Given the description of an element on the screen output the (x, y) to click on. 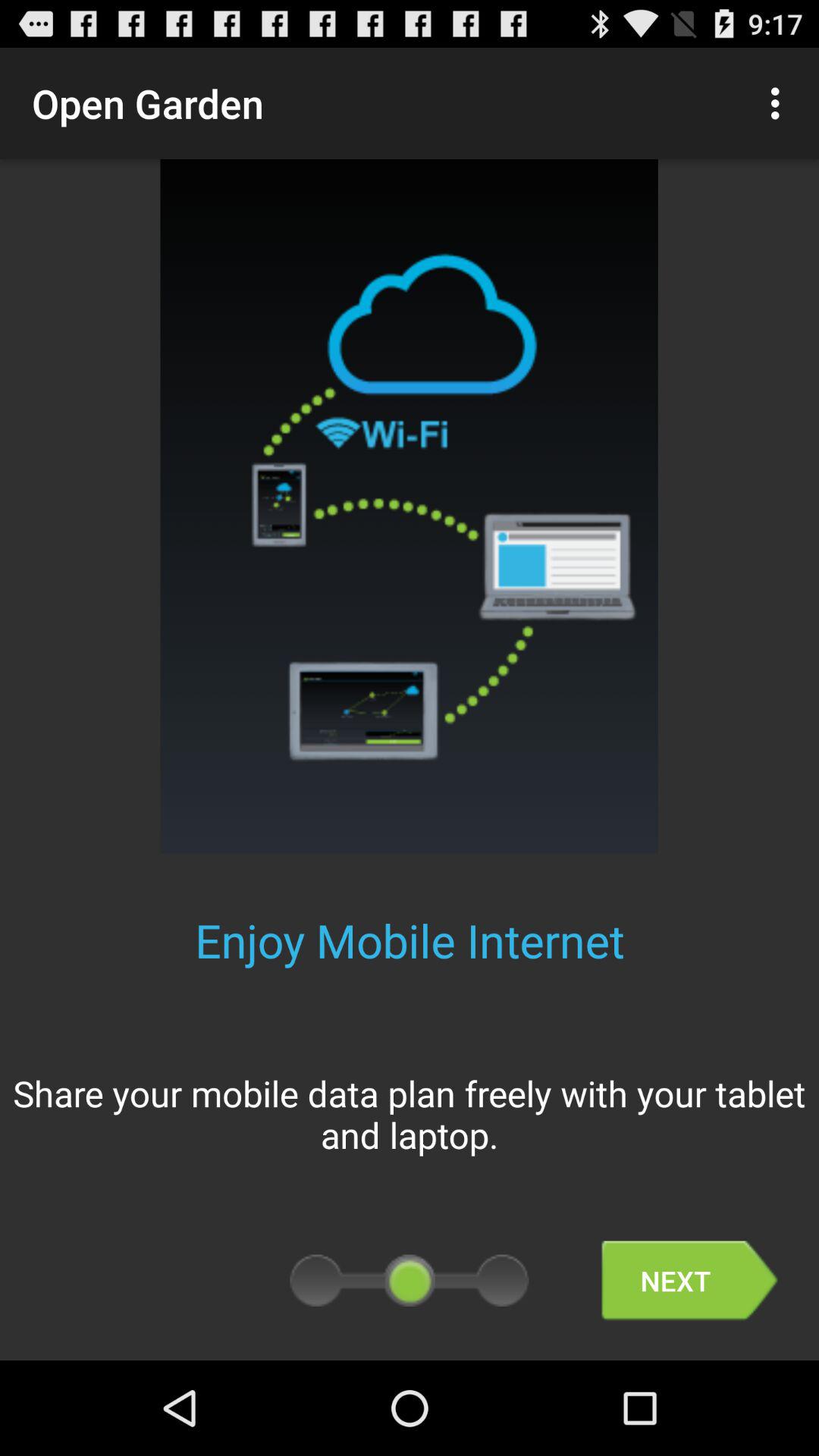
choose the item above enjoy mobile internet (779, 103)
